Given the description of an element on the screen output the (x, y) to click on. 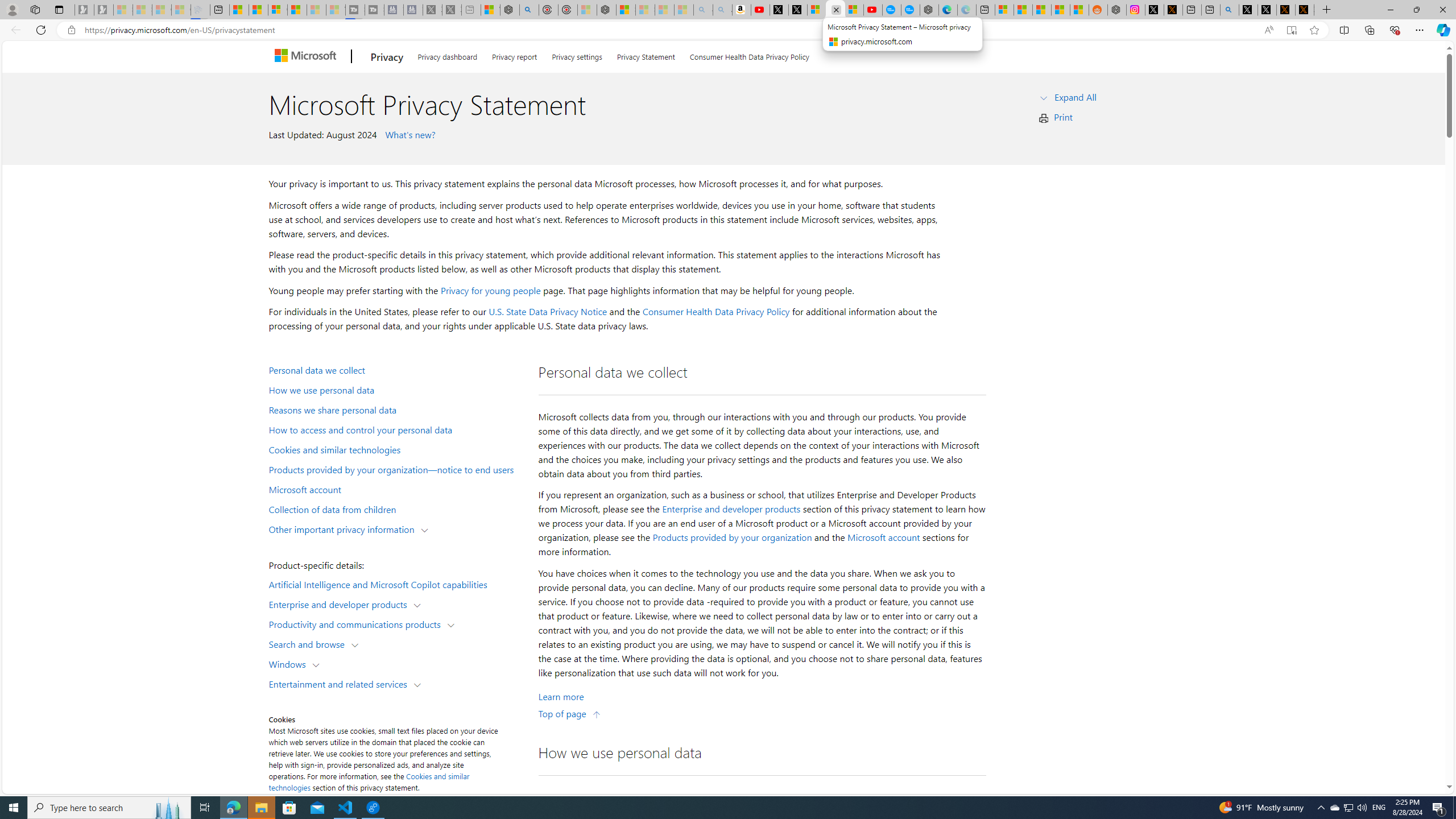
Cookies and similar technologies (395, 449)
Expand All (1075, 96)
